Given the description of an element on the screen output the (x, y) to click on. 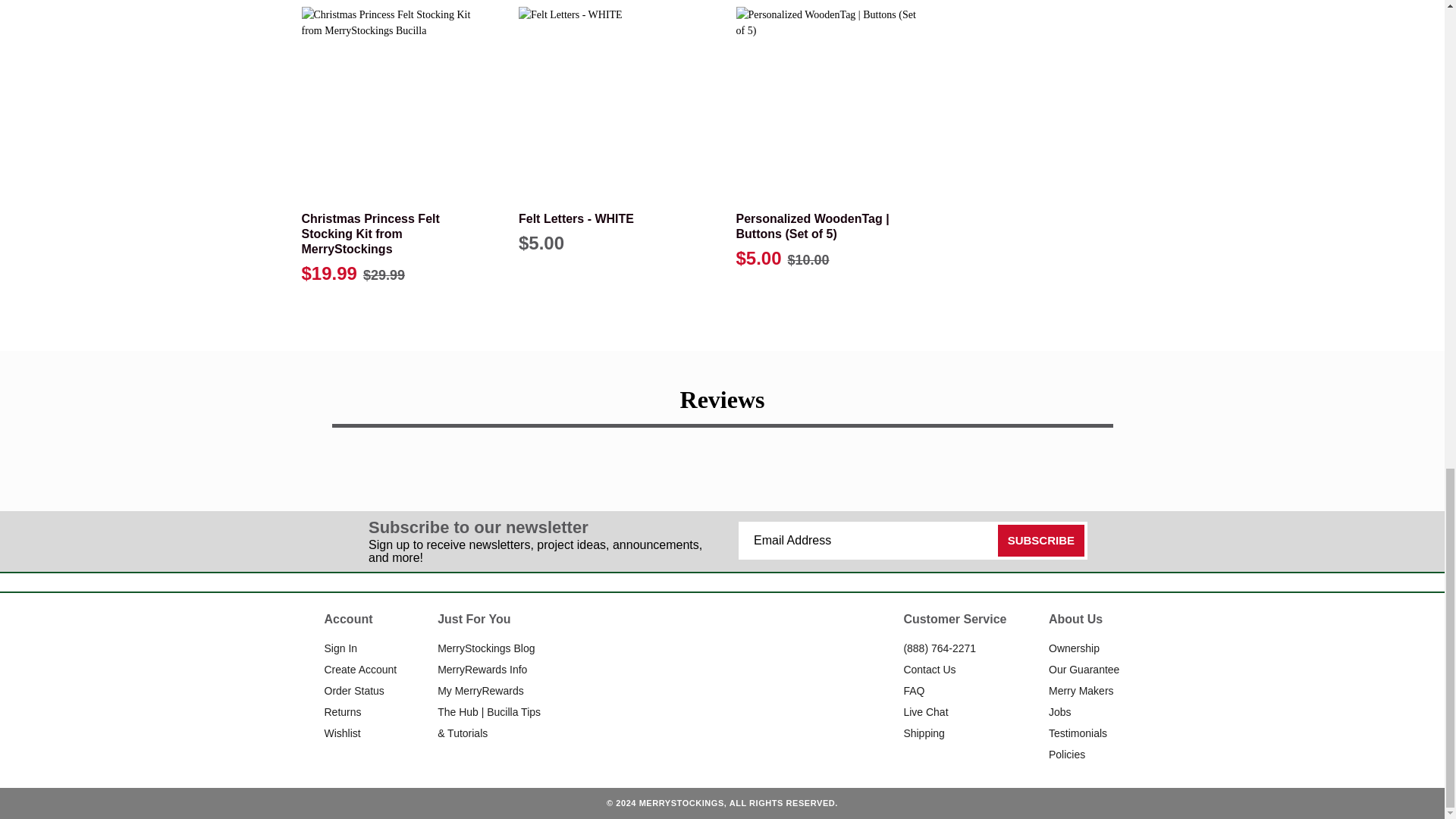
Facebook (673, 657)
Pinterest (737, 657)
Subscribe (1040, 540)
Twitter (769, 657)
Instagram (705, 657)
Felt Letters - WHITE (613, 100)
